Given the description of an element on the screen output the (x, y) to click on. 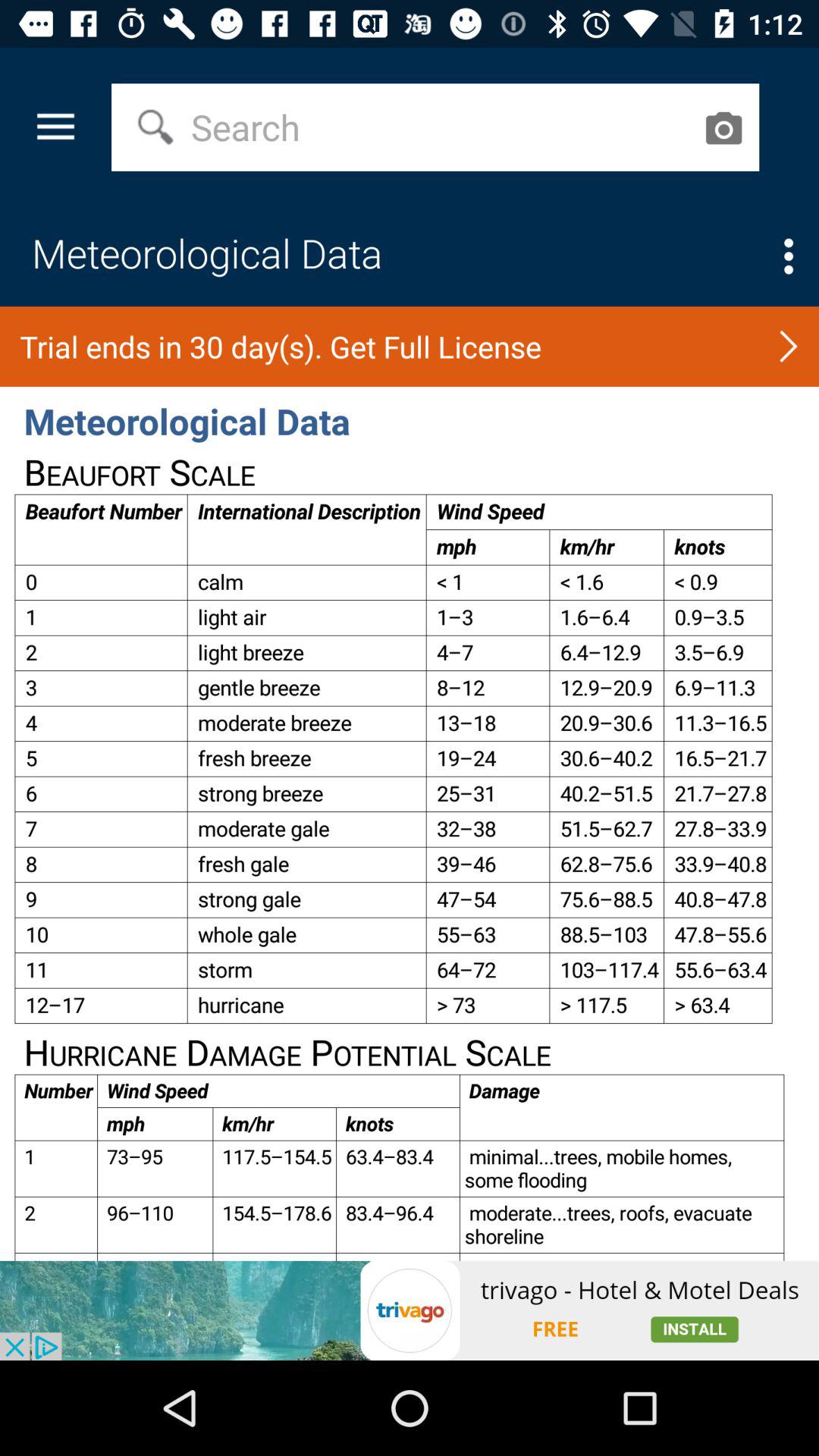
more options (788, 256)
